Given the description of an element on the screen output the (x, y) to click on. 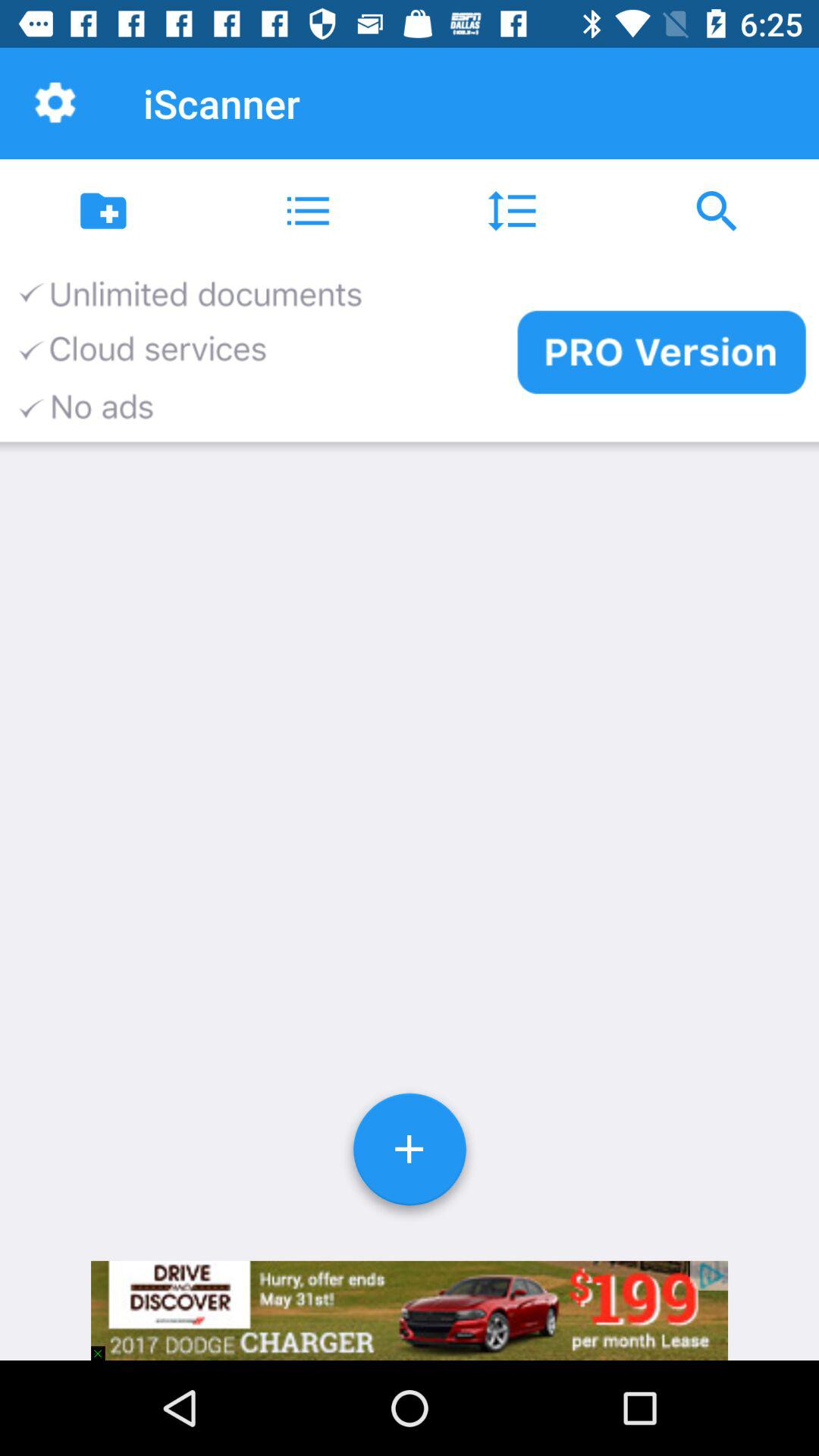
launch the item below iscanner (306, 210)
